Given the description of an element on the screen output the (x, y) to click on. 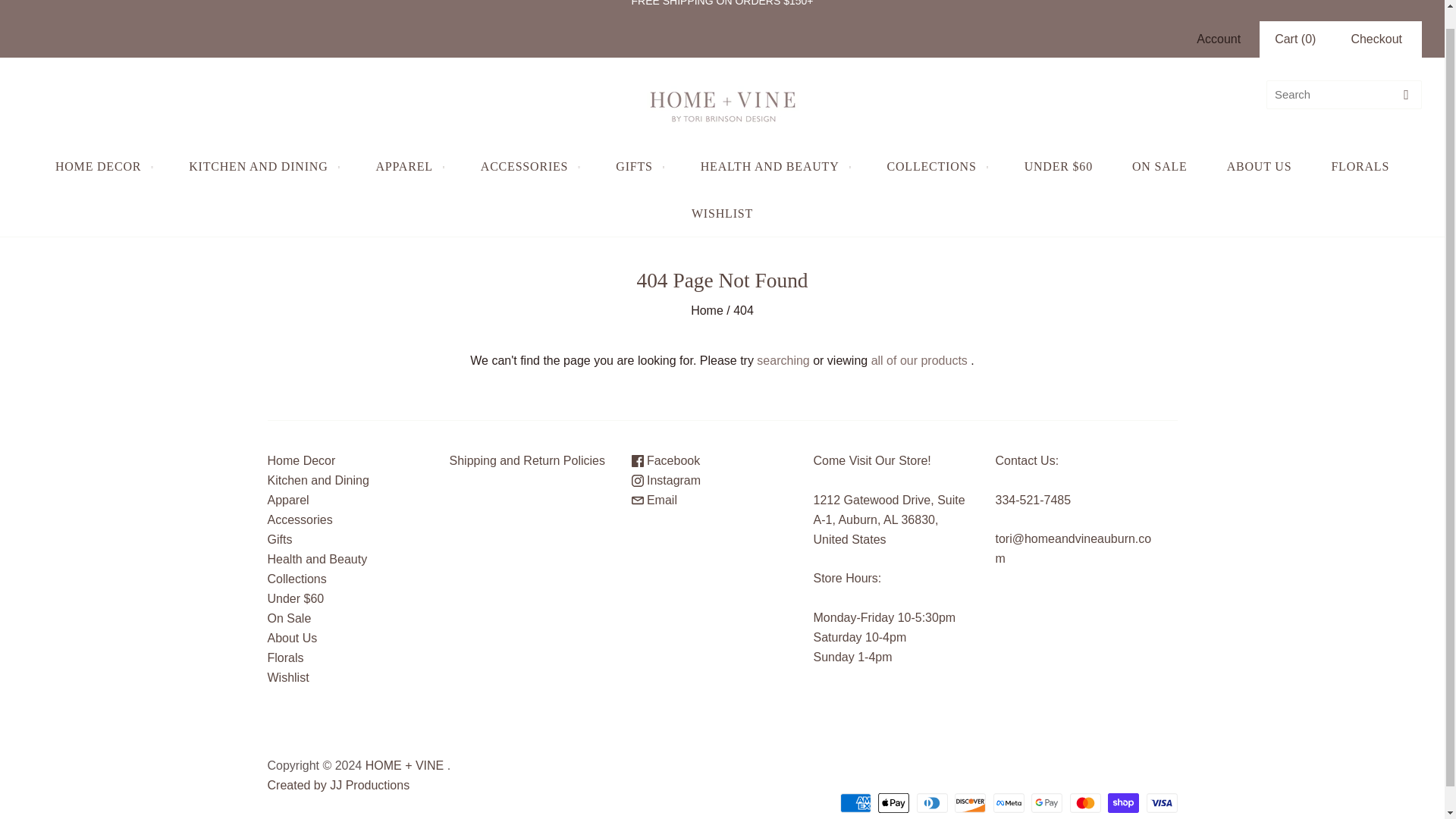
Visa (1162, 803)
ACCESSORIES (528, 166)
Meta Pay (1008, 803)
Facebook (665, 460)
APPAREL (408, 166)
Checkout (1375, 39)
Discover (970, 803)
HOME DECOR (101, 166)
Mastercard (1085, 803)
KITCHEN AND DINING (261, 166)
Shop Pay (1123, 803)
Apple Pay (892, 803)
Instagram (665, 480)
Google Pay (1046, 803)
Account (1218, 38)
